Given the description of an element on the screen output the (x, y) to click on. 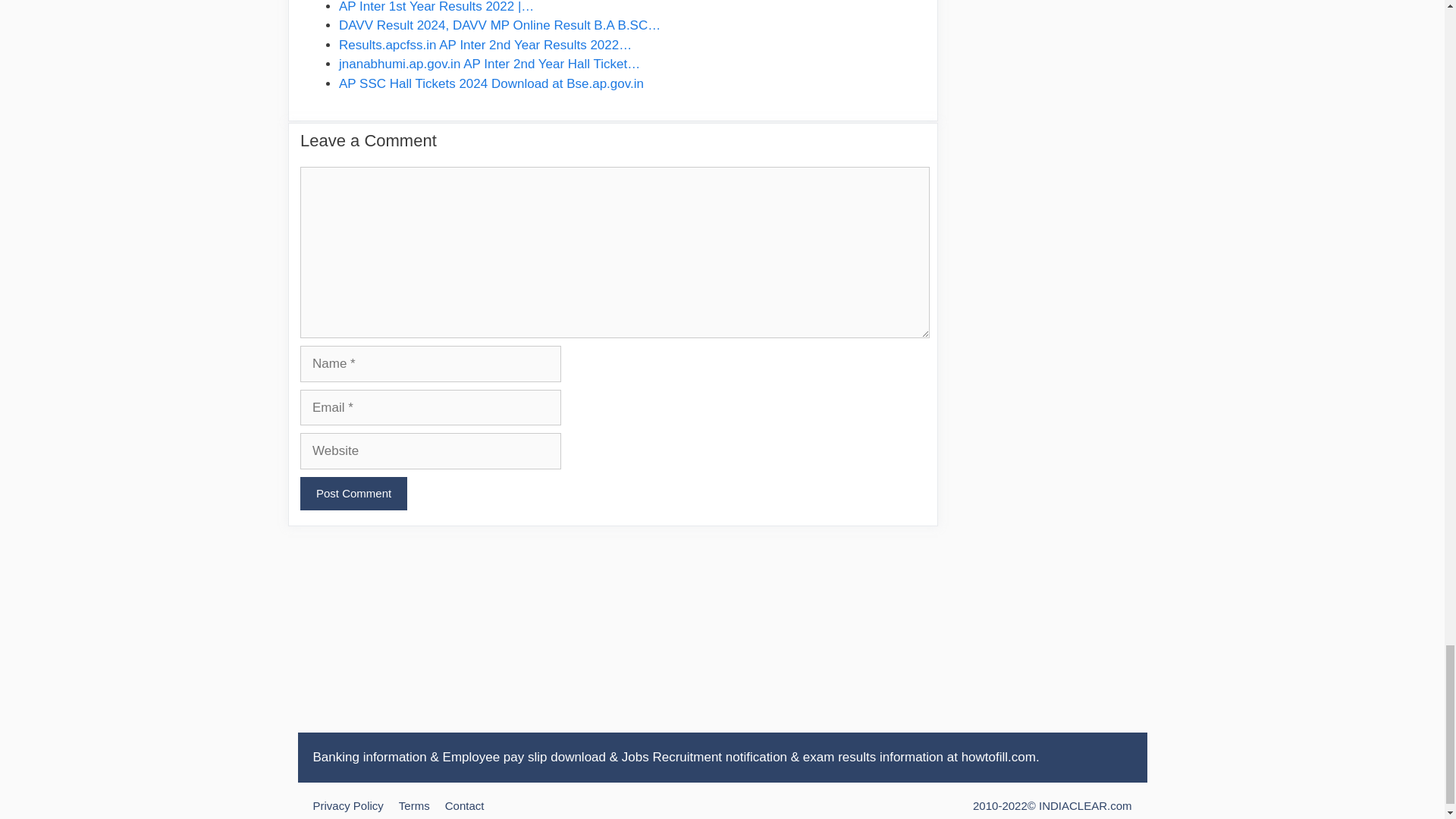
howtofill.com (997, 757)
Post Comment (353, 493)
AP SSC Hall Tickets 2024 Download at Bse.ap.gov.in (491, 83)
Privacy Policy (347, 805)
Post Comment (353, 493)
